Given the description of an element on the screen output the (x, y) to click on. 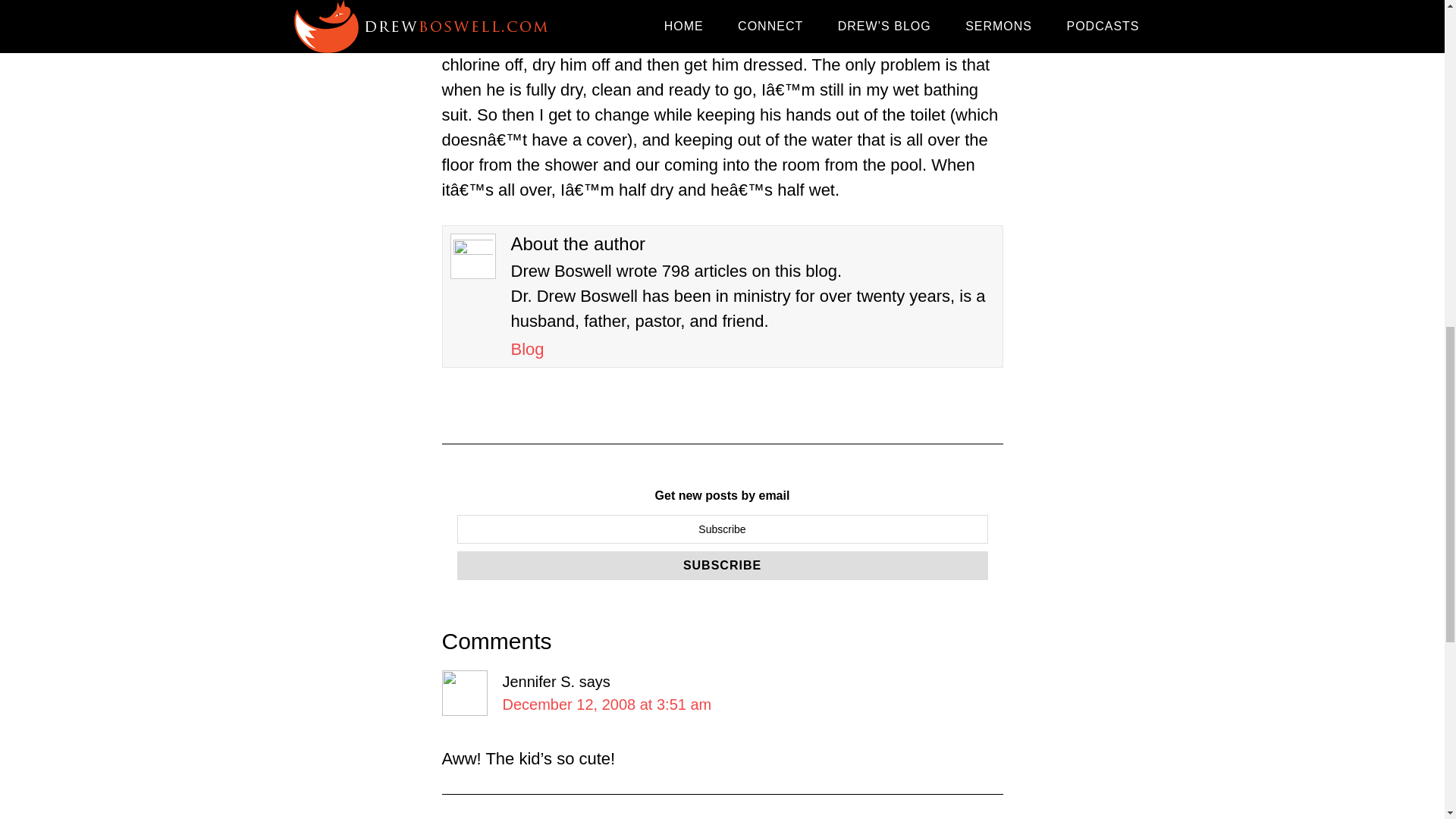
Blog (527, 348)
Subscribe (722, 565)
Subscribe (722, 565)
December 12, 2008 at 3:51 am (606, 704)
